Given the description of an element on the screen output the (x, y) to click on. 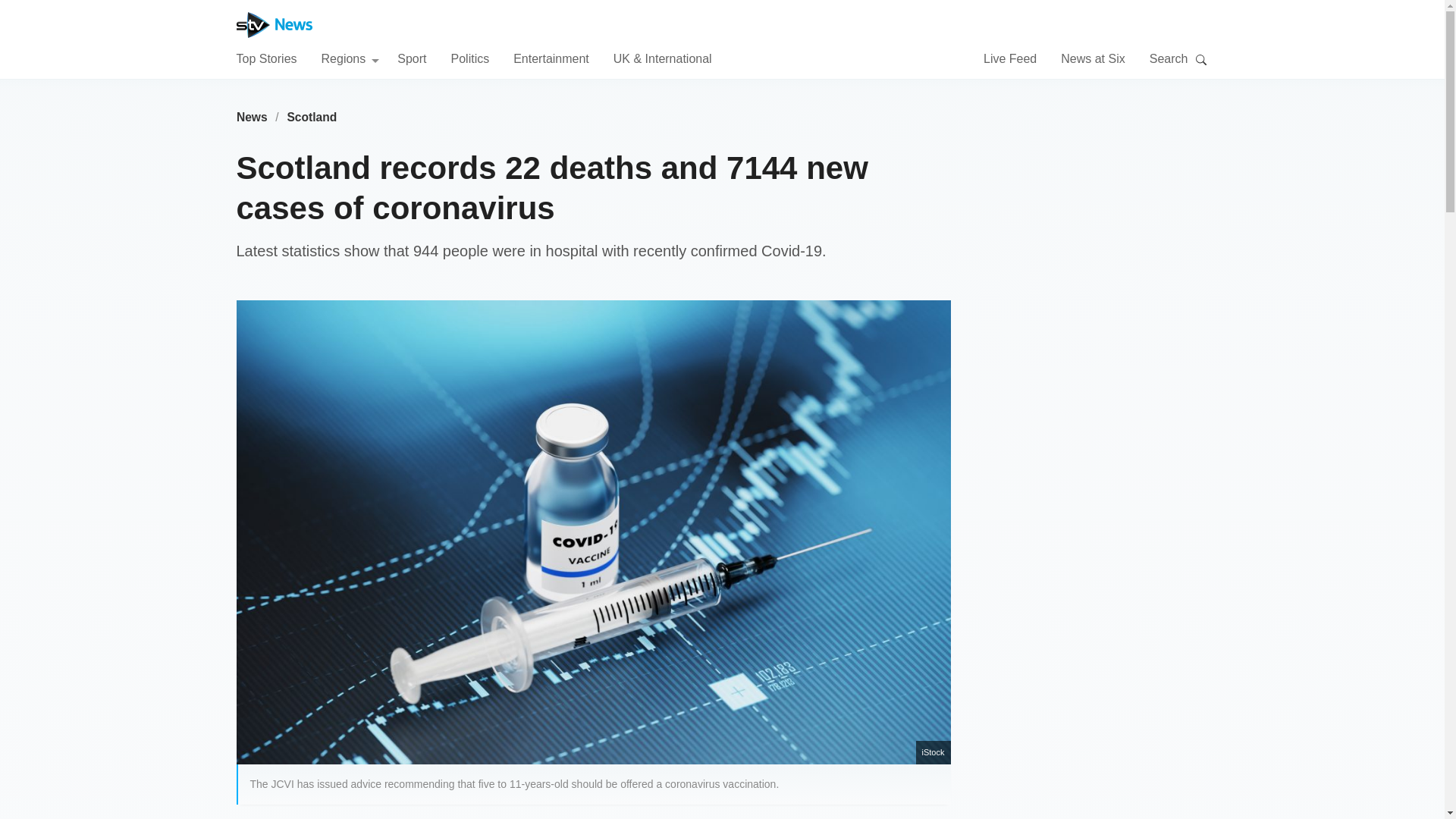
Sport (411, 57)
Search (1201, 59)
Top Stories (266, 57)
News (252, 116)
Regions (350, 57)
News at Six (1092, 57)
Entertainment (551, 57)
Scotland (312, 116)
Live Feed (1010, 57)
Politics (469, 57)
